Given the description of an element on the screen output the (x, y) to click on. 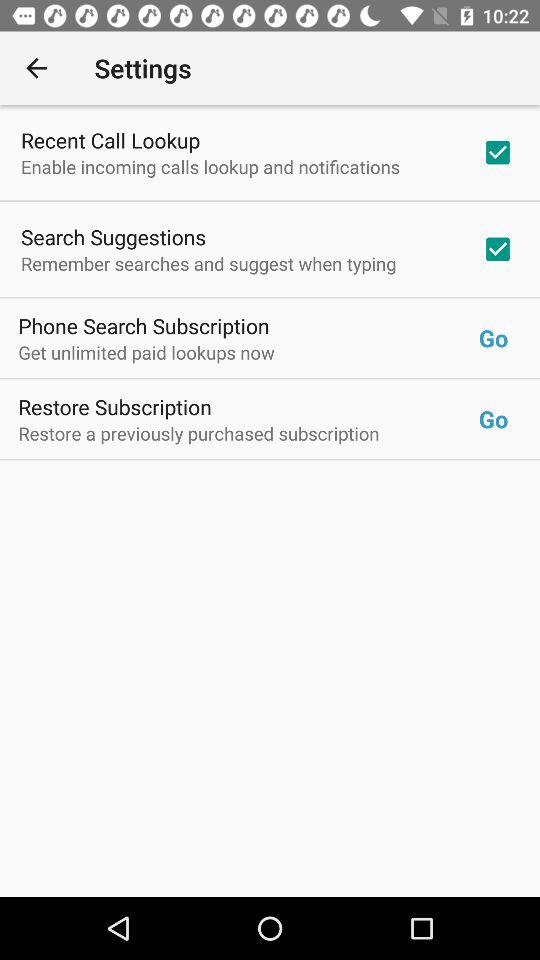
tap recent call lookup (110, 139)
